Given the description of an element on the screen output the (x, y) to click on. 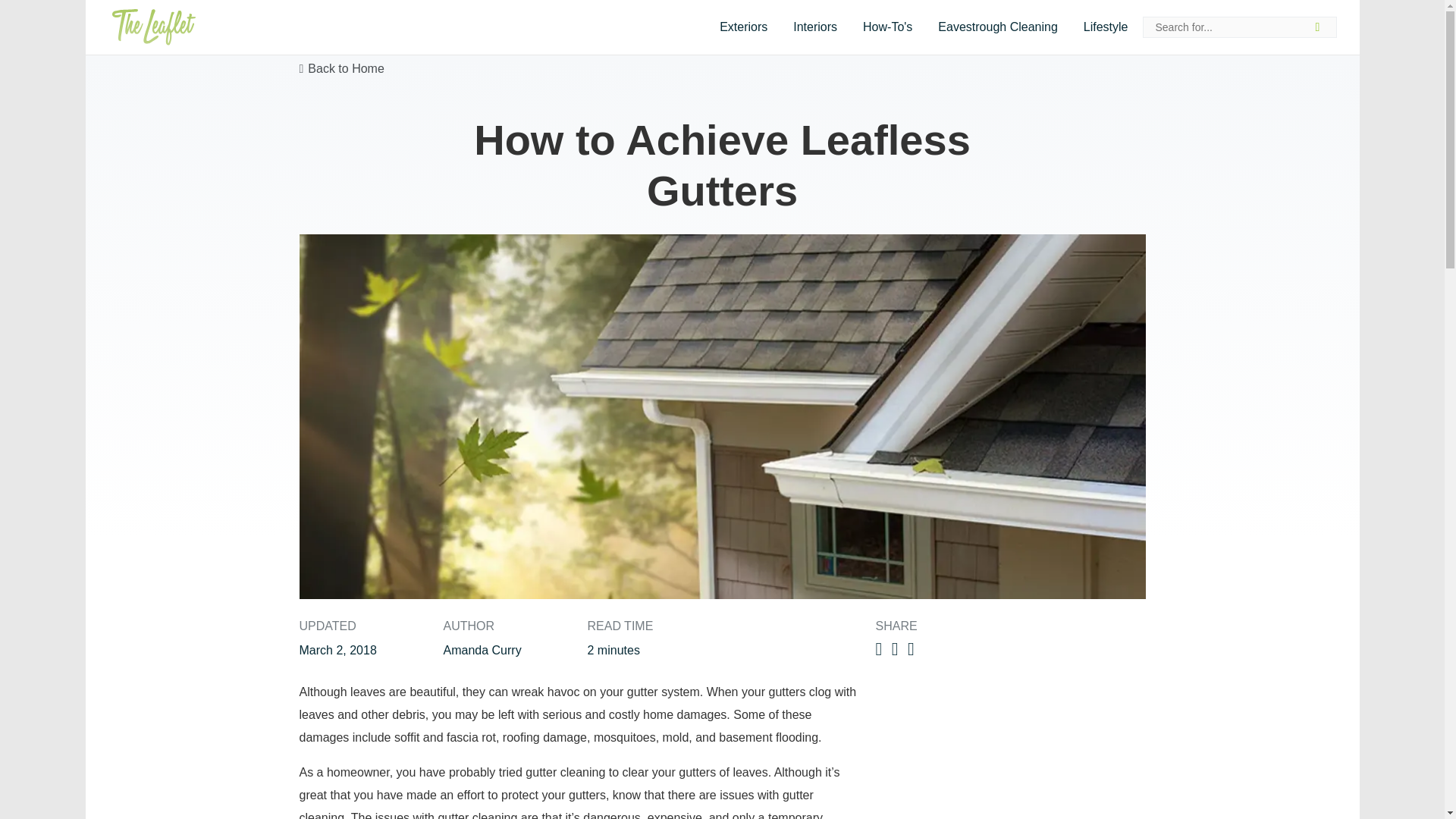
Lifestyle (1105, 27)
Interiors (814, 27)
Lifestyle (1105, 27)
Eavestrough Cleaning (997, 27)
How-To's (887, 27)
Search (1321, 26)
Search (1321, 26)
Eavestrough Cleaning (997, 27)
Interiors (814, 27)
How-To's (887, 27)
Back to Home (341, 68)
Exteriors (742, 27)
Exteriors (742, 27)
